Given the description of an element on the screen output the (x, y) to click on. 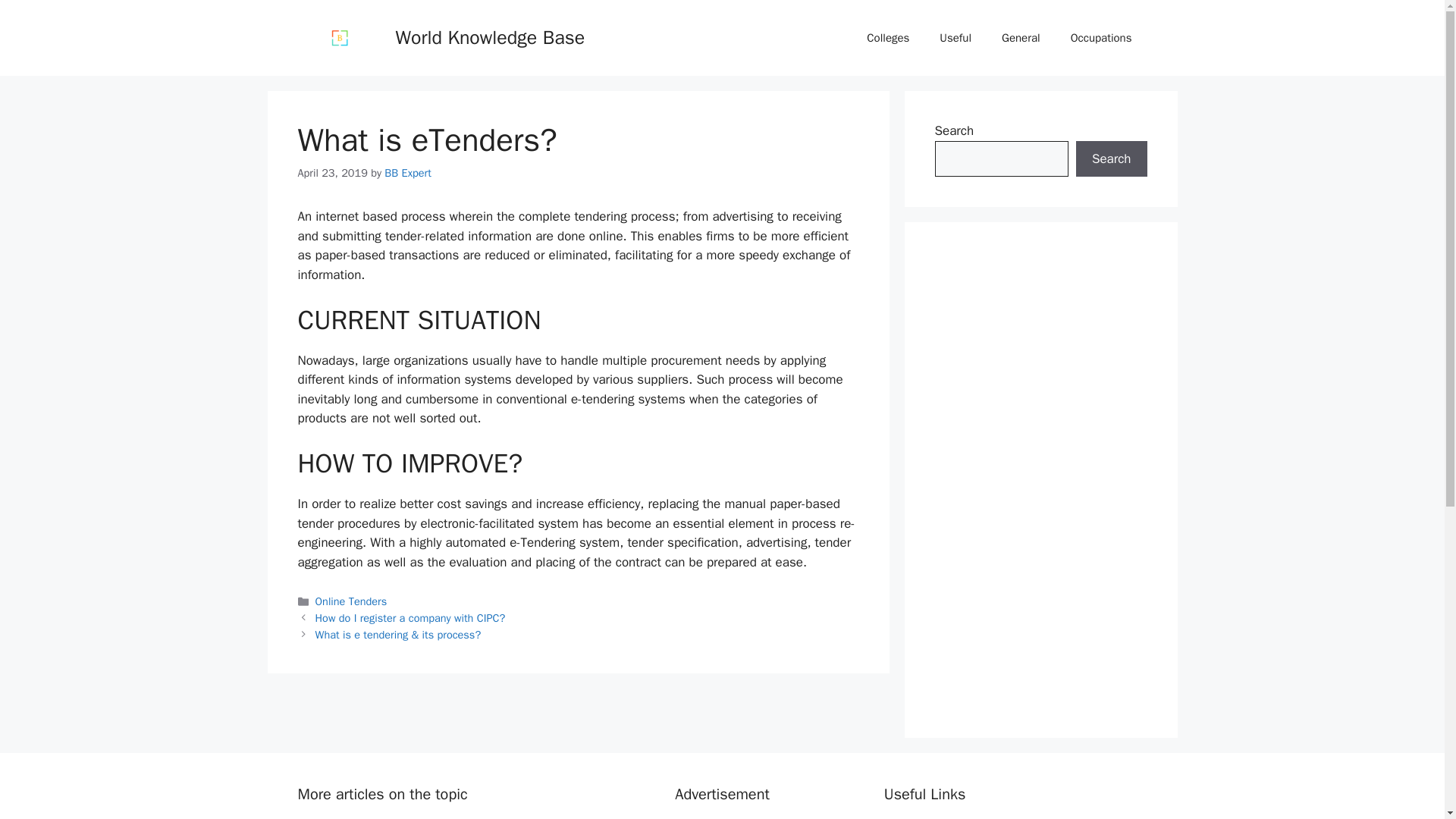
World Knowledge Base (490, 37)
Online Tenders (351, 601)
General (1021, 37)
Search (1111, 158)
BB Expert (407, 172)
View all posts by BB Expert (407, 172)
Occupations (1101, 37)
How do I register a company with CIPC? (410, 617)
Useful (955, 37)
Colleges (887, 37)
